Given the description of an element on the screen output the (x, y) to click on. 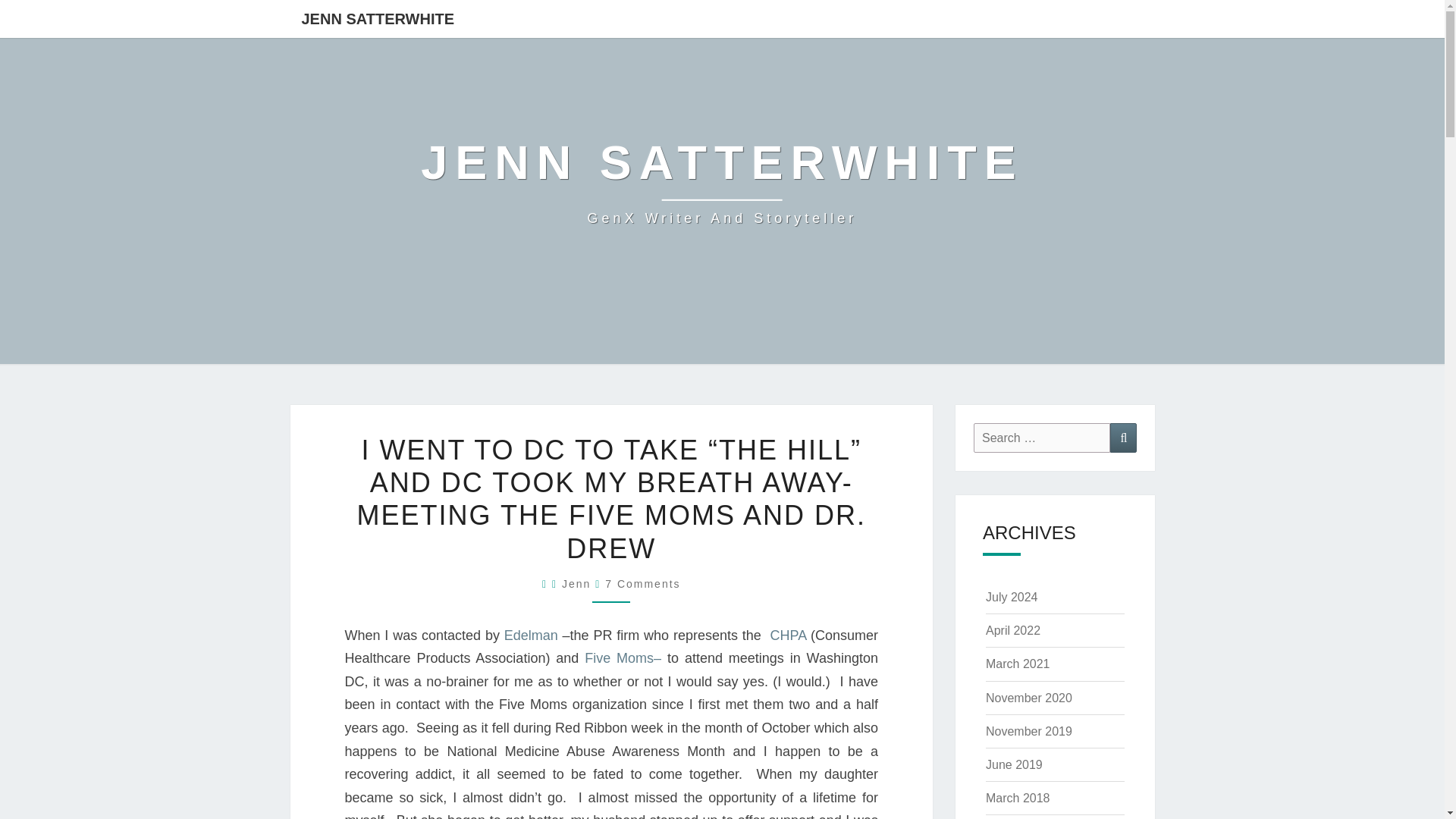
View all posts by Jenn (576, 583)
Edelman (532, 635)
Jenn Satterwhite (721, 182)
Search for: (721, 182)
Jenn (1041, 437)
CHPA (576, 583)
7 Comments (790, 635)
JENN SATTERWHITE (642, 583)
